Given the description of an element on the screen output the (x, y) to click on. 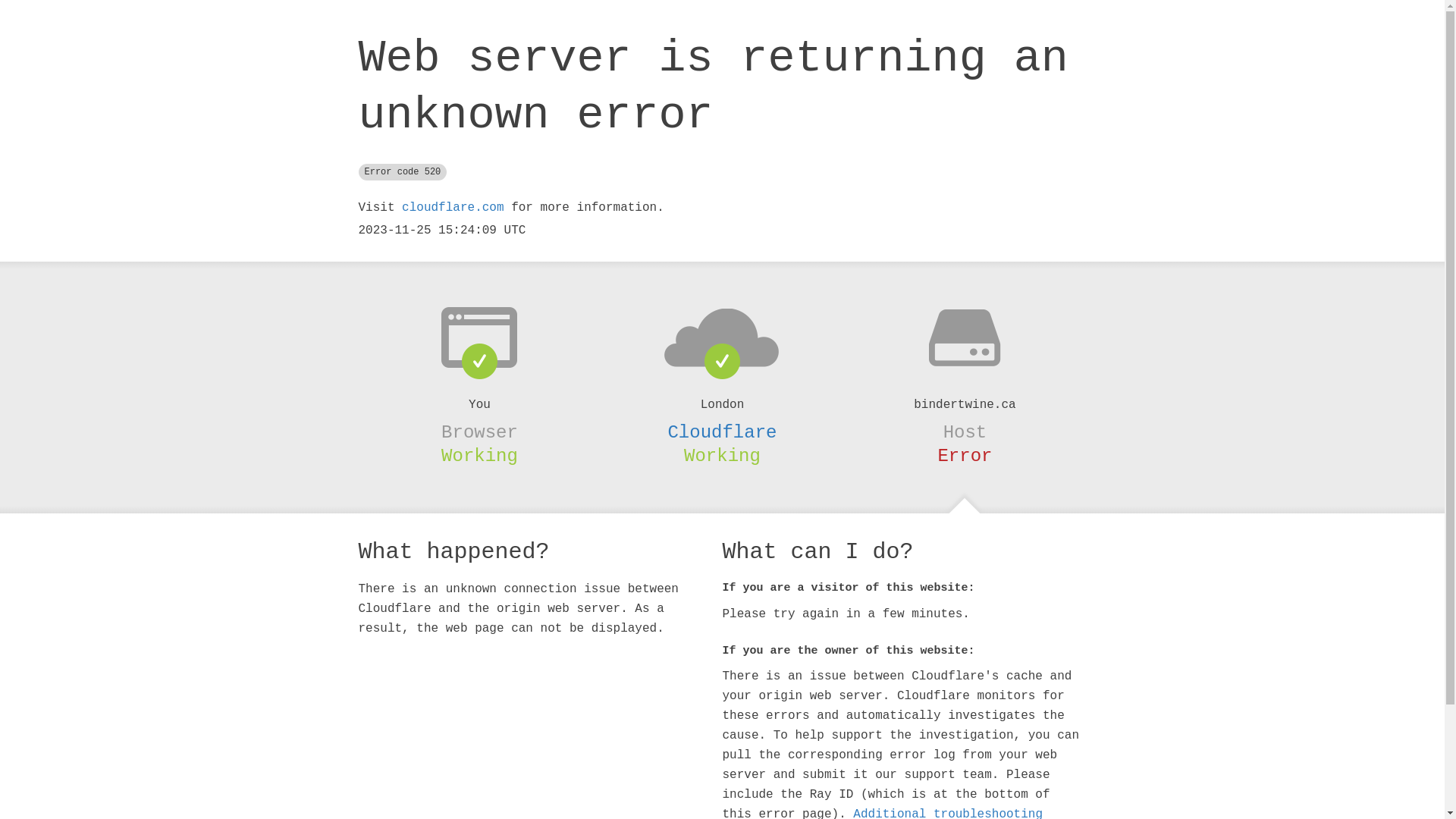
cloudflare.com Element type: text (452, 207)
Cloudflare Element type: text (721, 432)
